Given the description of an element on the screen output the (x, y) to click on. 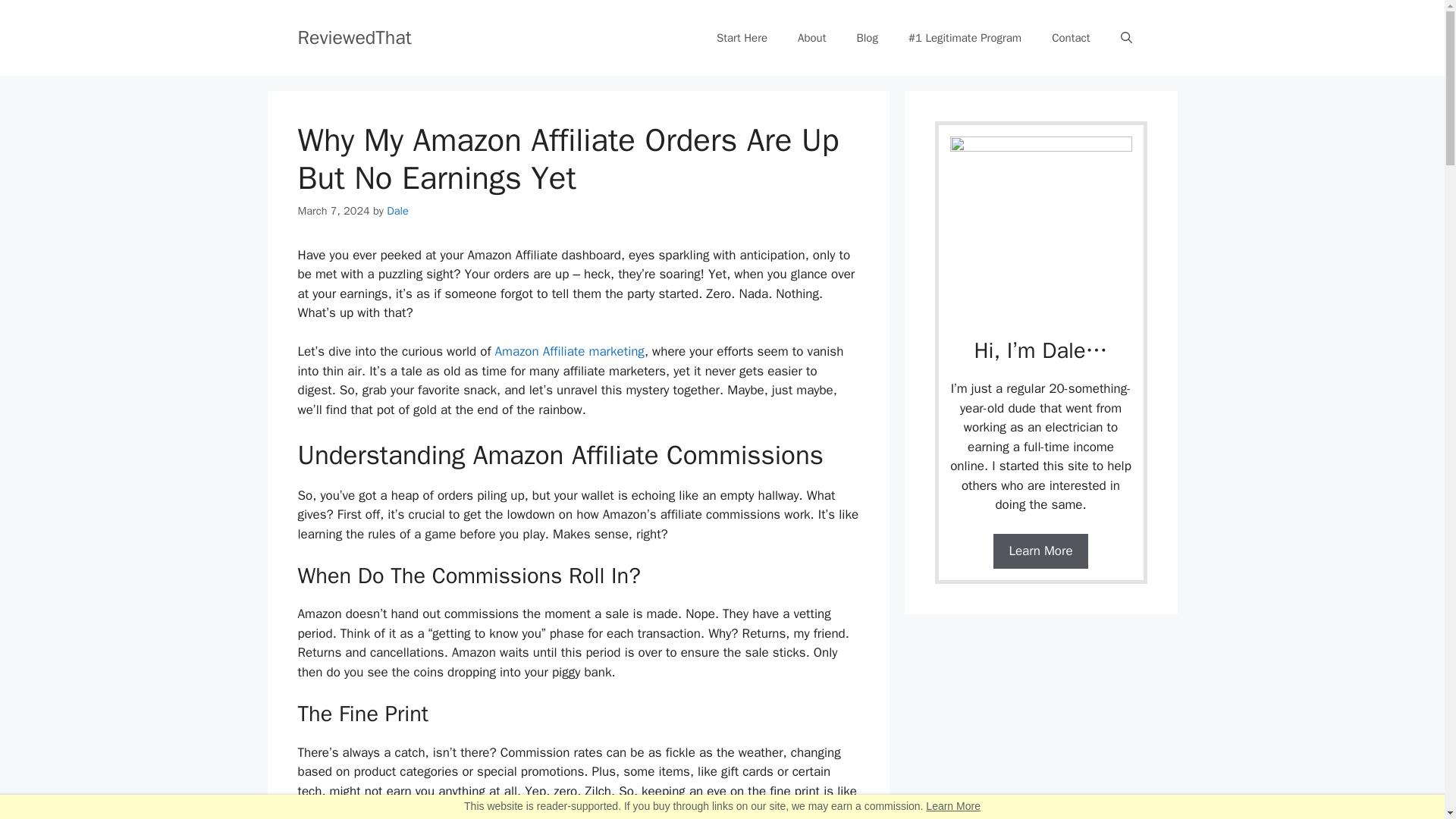
Start Here (742, 37)
Contact (1070, 37)
ReviewedThat (353, 37)
Blog (866, 37)
Learn More (1039, 550)
View all posts by Dale (398, 210)
Dale (398, 210)
About (812, 37)
Learn More (952, 806)
Amazon Affiliate marketing (570, 351)
